Given the description of an element on the screen output the (x, y) to click on. 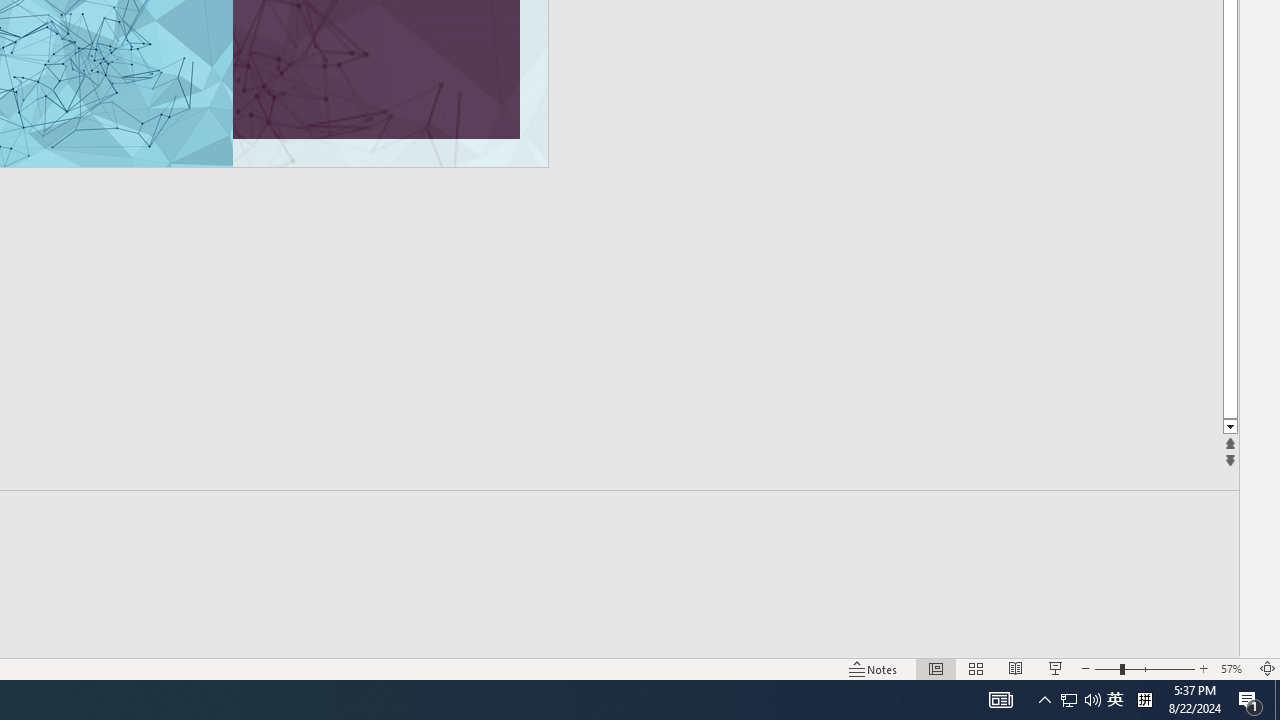
Zoom 57% (1234, 668)
Tray Input Indicator - Chinese (Simplified, China) (1144, 699)
Action Center, 1 new notification (1115, 699)
Show desktop (1069, 699)
Q2790: 100% (1250, 699)
AutomationID: 4105 (1277, 699)
